Given the description of an element on the screen output the (x, y) to click on. 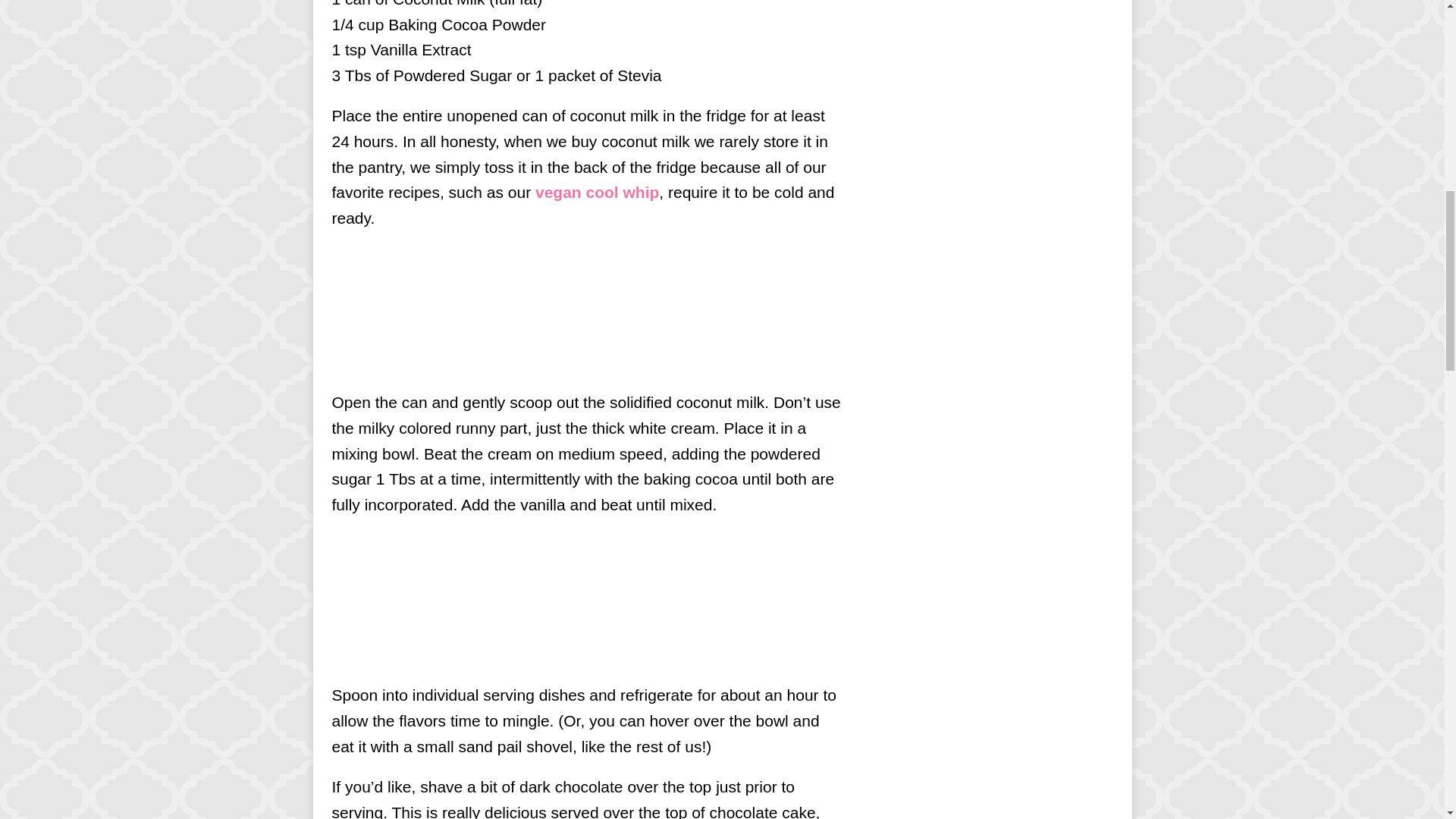
vegan cool whip (597, 191)
